Given the description of an element on the screen output the (x, y) to click on. 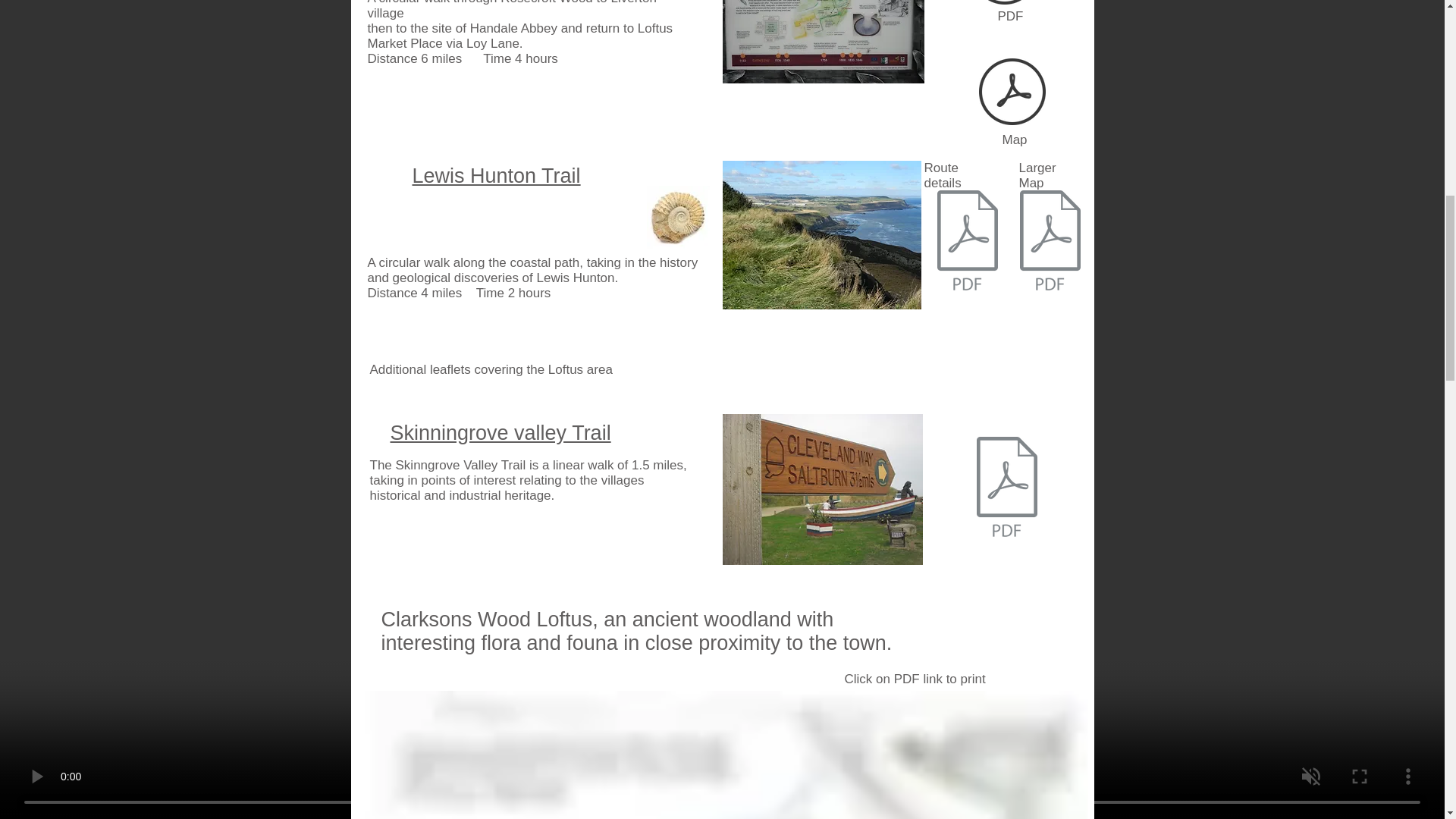
Handale Walking Map A3.pdf (1012, 93)
Handale Abbey Trail new.pdf (1005, 6)
